Given the description of an element on the screen output the (x, y) to click on. 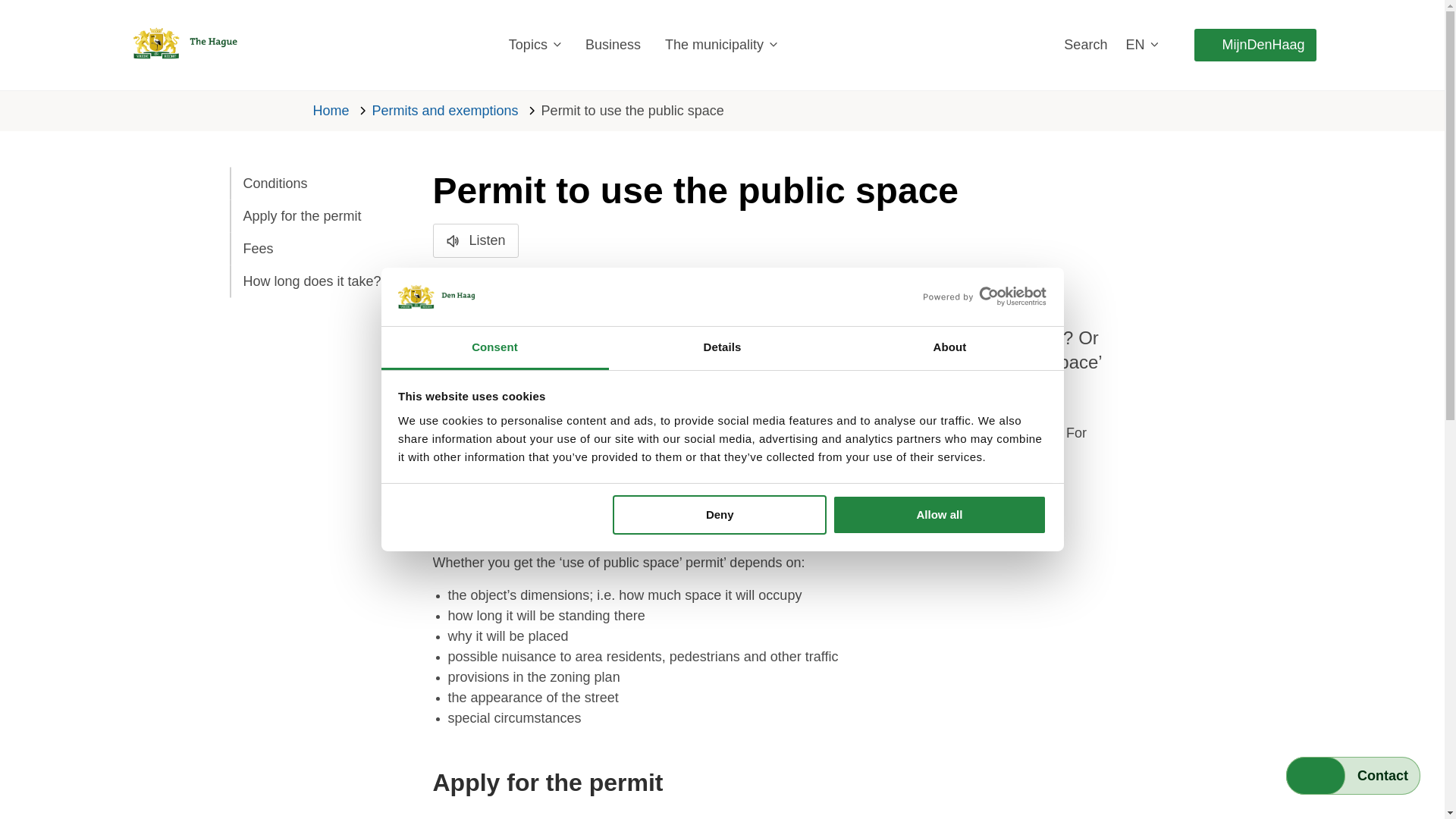
Consent (494, 348)
About (948, 348)
Details (721, 348)
Onderwerpen (534, 44)
